Given the description of an element on the screen output the (x, y) to click on. 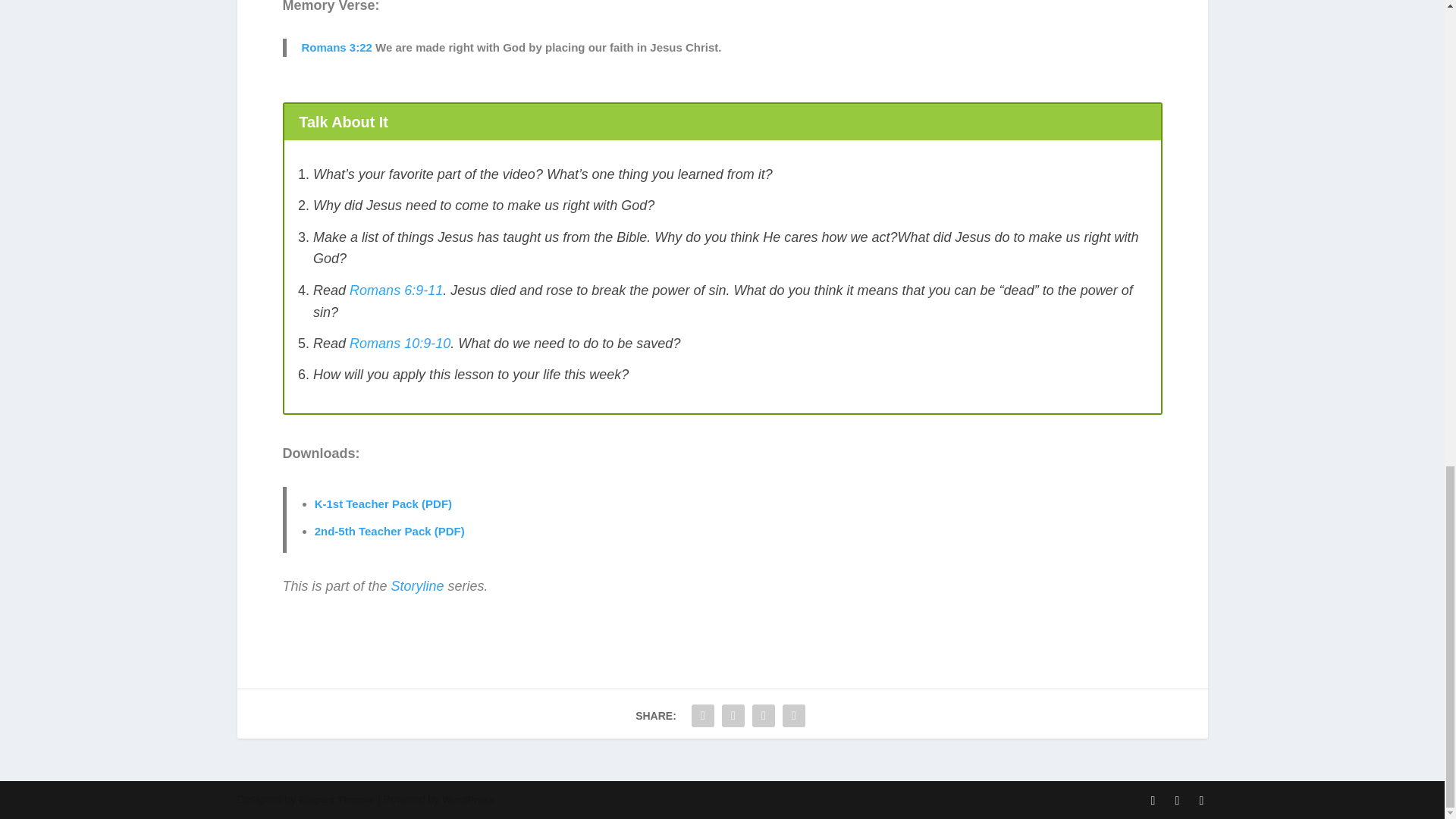
Storyline (417, 585)
Share "How Jesus Fixed It All" via Facebook (702, 716)
Romans 3:22 (336, 47)
Share "How Jesus Fixed It All" via Email (763, 716)
Share "How Jesus Fixed It All" via Twitter (732, 716)
Romans 10:9-10 (399, 343)
Romans 6:9-11 (395, 290)
WordPress (467, 799)
Share "How Jesus Fixed It All" via Print (793, 716)
Elegant Themes (336, 799)
Premium WordPress Themes (336, 799)
